Given the description of an element on the screen output the (x, y) to click on. 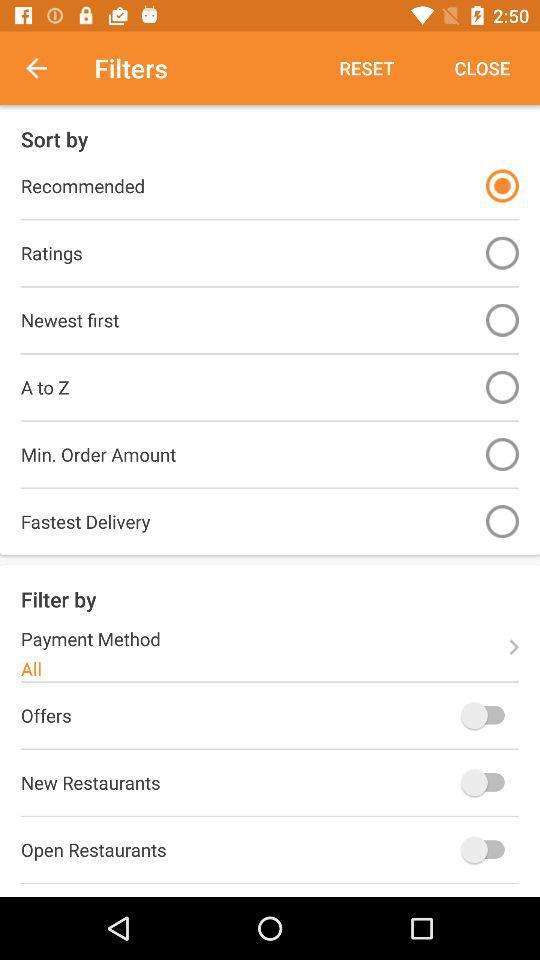
swipe to the reset (366, 68)
